Given the description of an element on the screen output the (x, y) to click on. 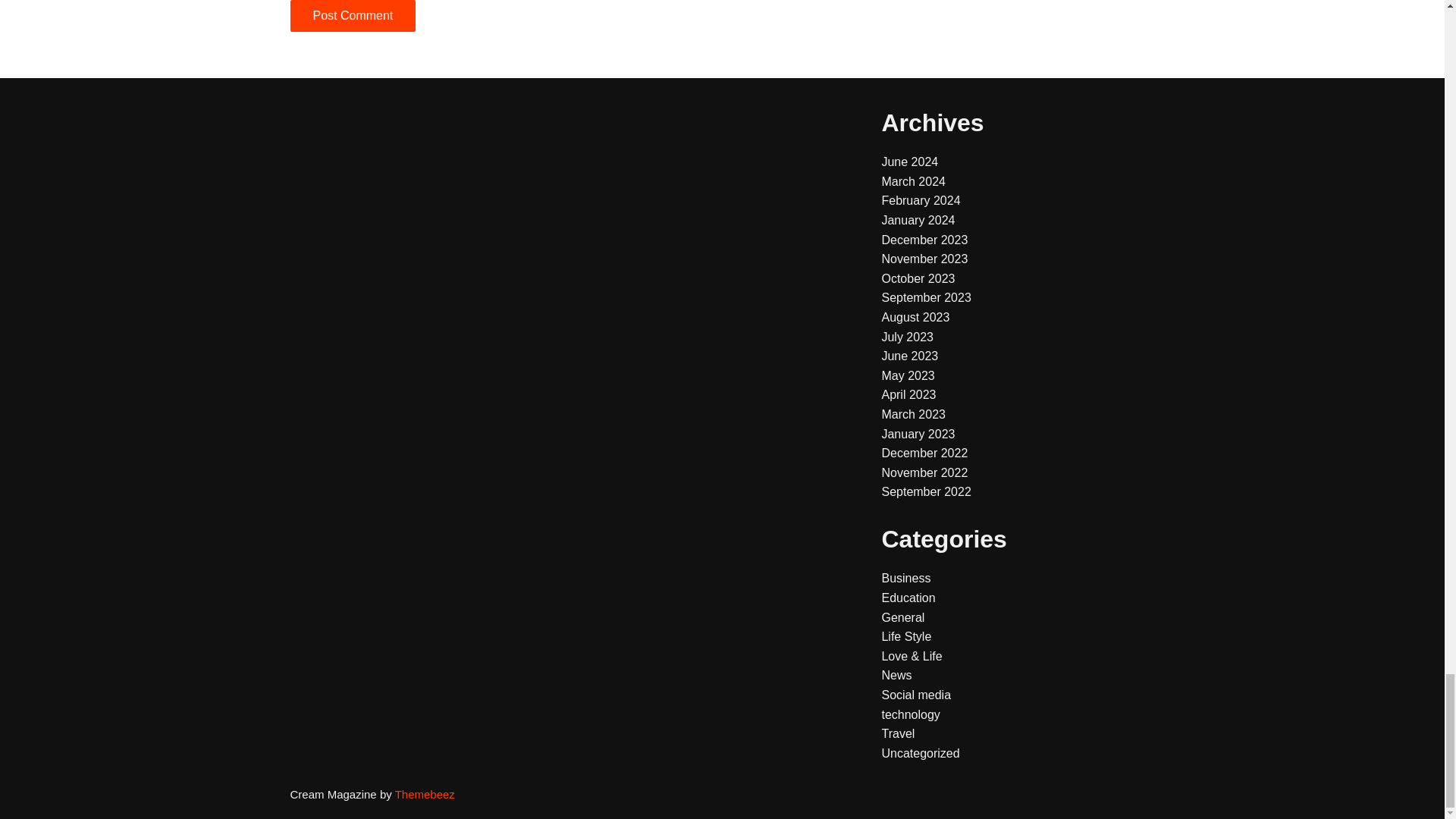
Post Comment (351, 15)
